Given the description of an element on the screen output the (x, y) to click on. 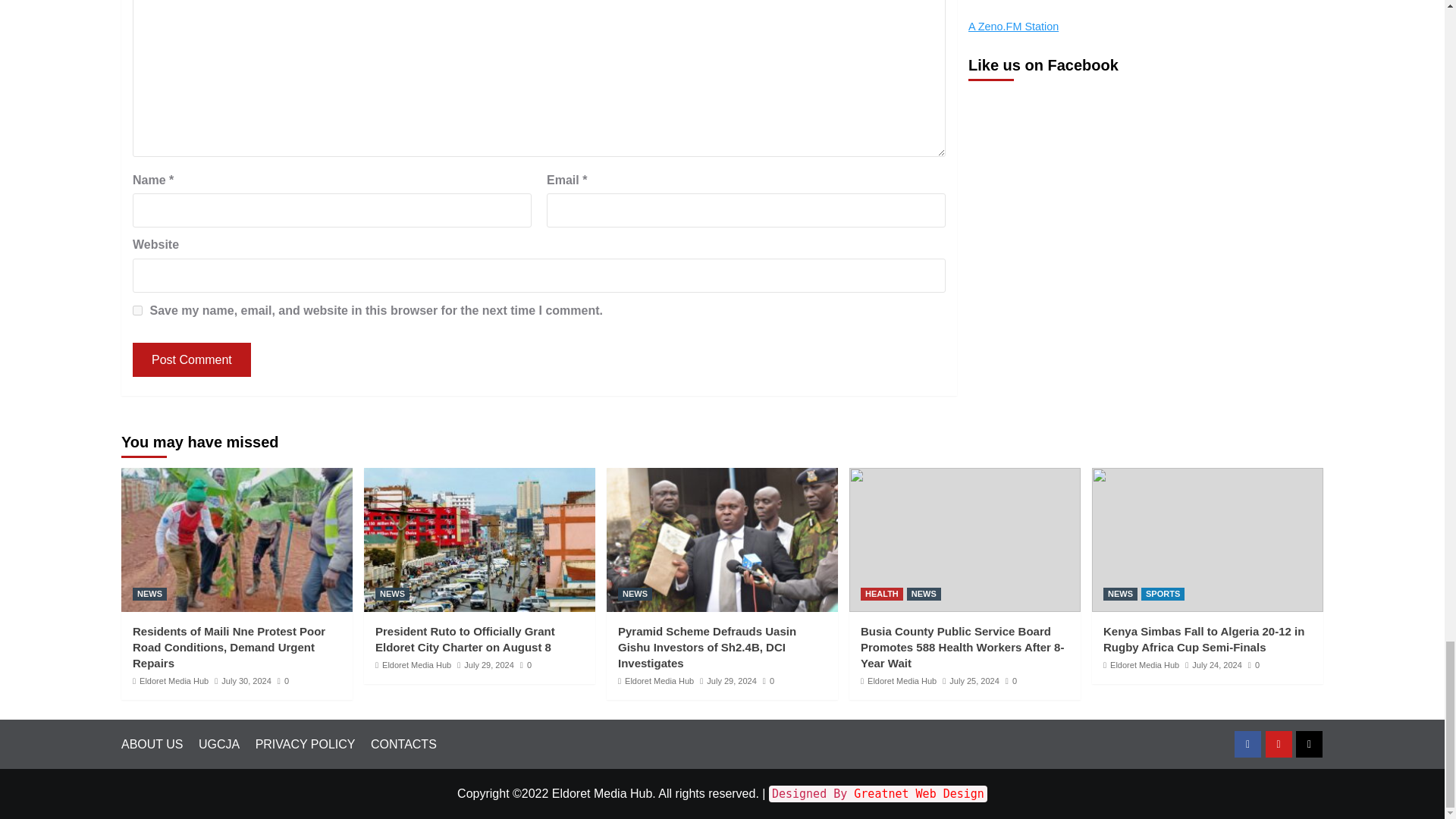
yes (137, 310)
Post Comment (191, 359)
